Given the description of an element on the screen output the (x, y) to click on. 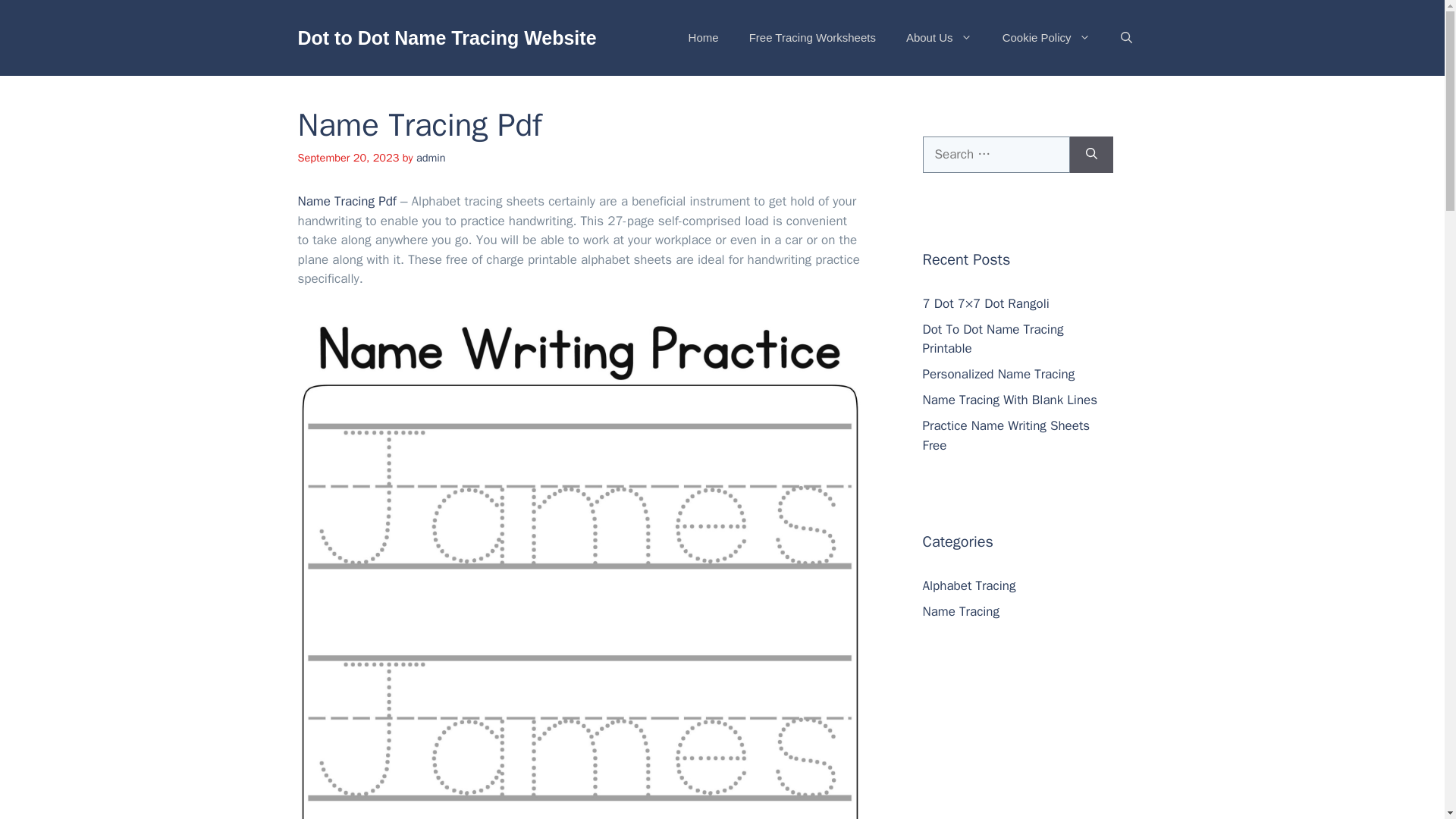
Free Tracing Worksheets (812, 37)
About Us (939, 37)
Name Tracing Pdf (346, 201)
Search for: (994, 154)
admin (430, 157)
View all posts by admin (430, 157)
Cookie Policy (1046, 37)
Home (702, 37)
Dot to Dot Name Tracing Website (446, 37)
Dot To Dot Name Tracing Printable (991, 339)
